Given the description of an element on the screen output the (x, y) to click on. 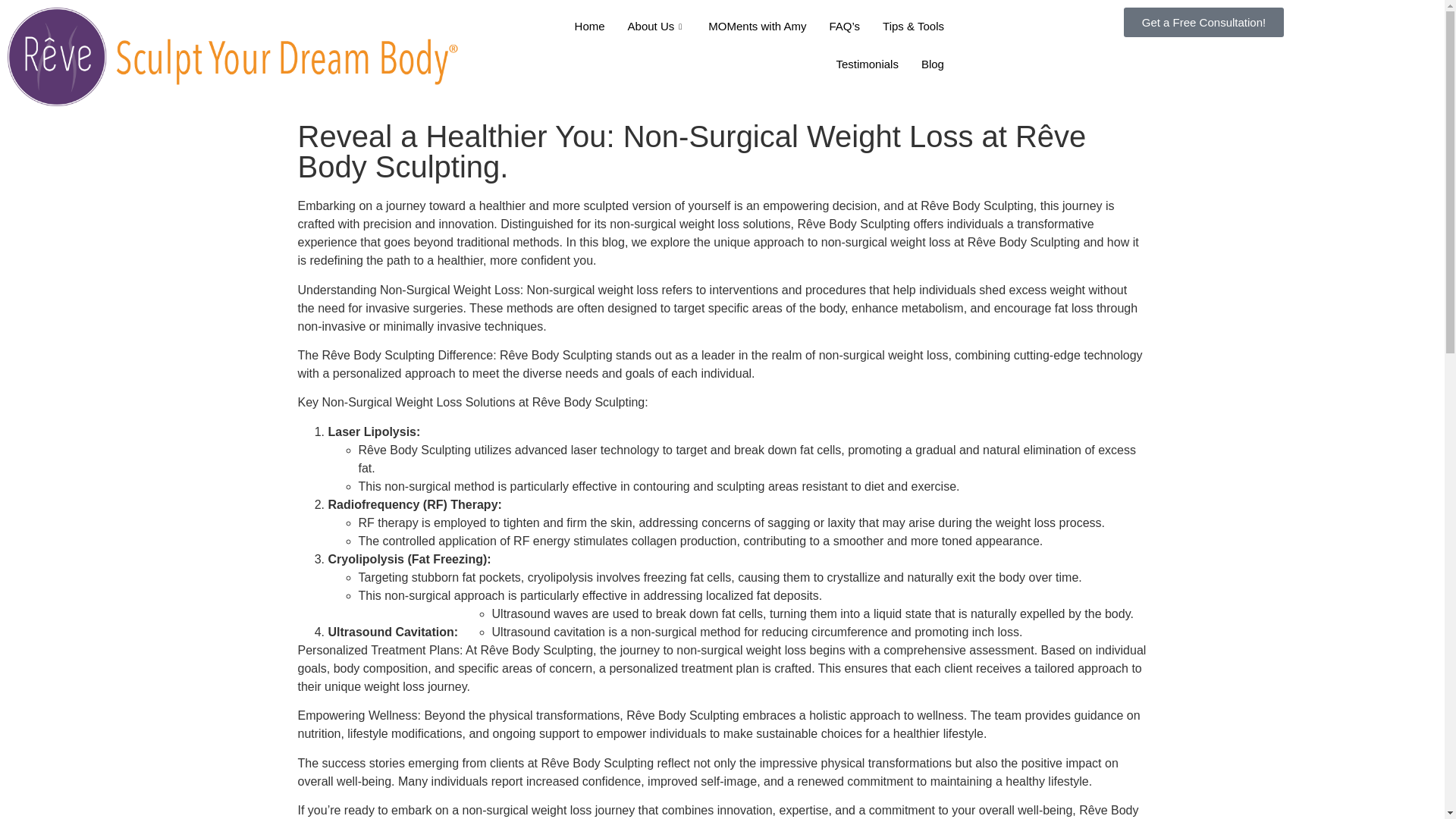
Testimonials (867, 64)
About Us (656, 26)
Blog (932, 64)
Home (589, 26)
Get a Free Consultation! (1204, 21)
MOMents with Amy (756, 26)
